Given the description of an element on the screen output the (x, y) to click on. 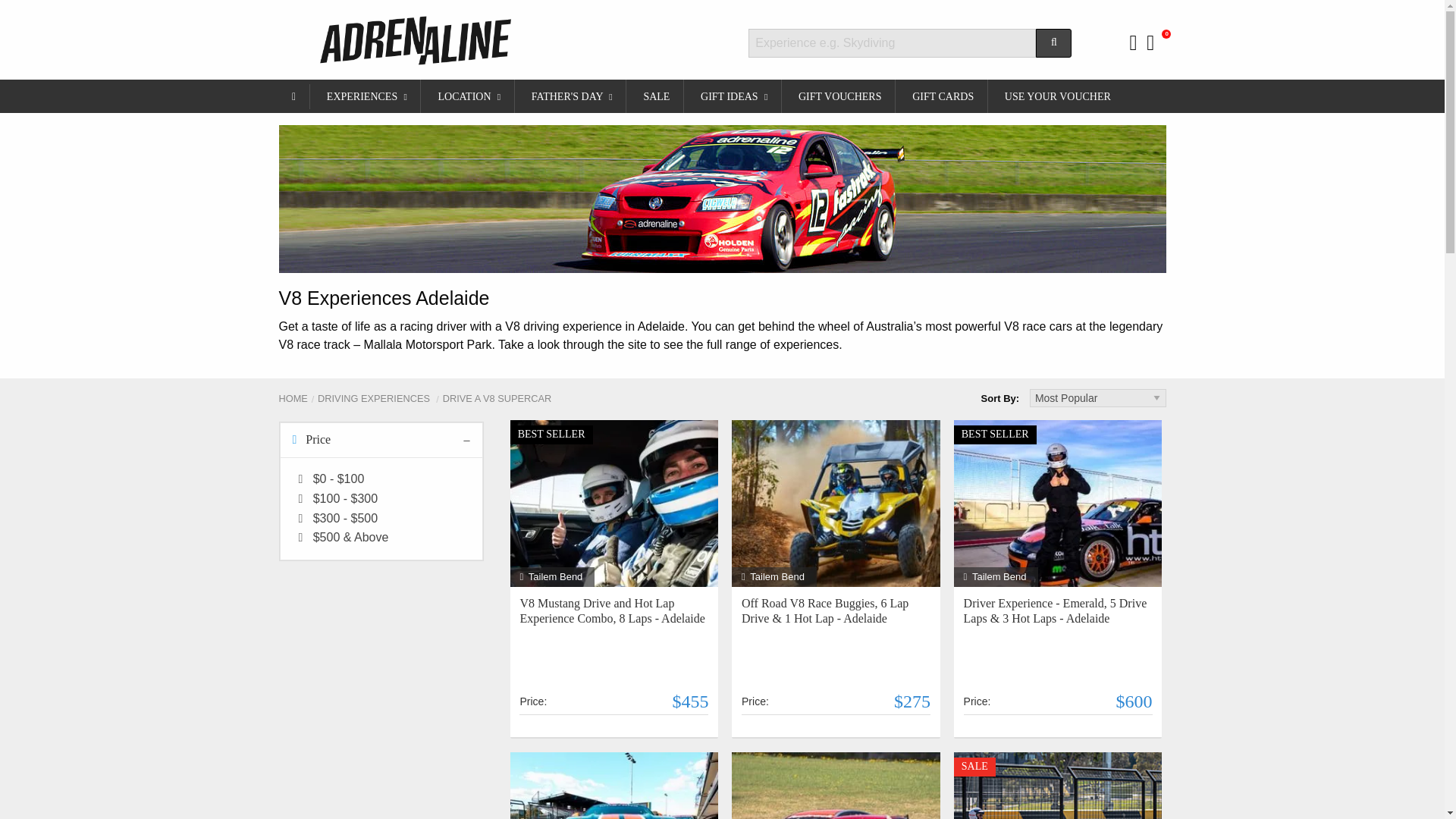
EXPERIENCES (366, 96)
SEARCH (1053, 42)
